Given the description of an element on the screen output the (x, y) to click on. 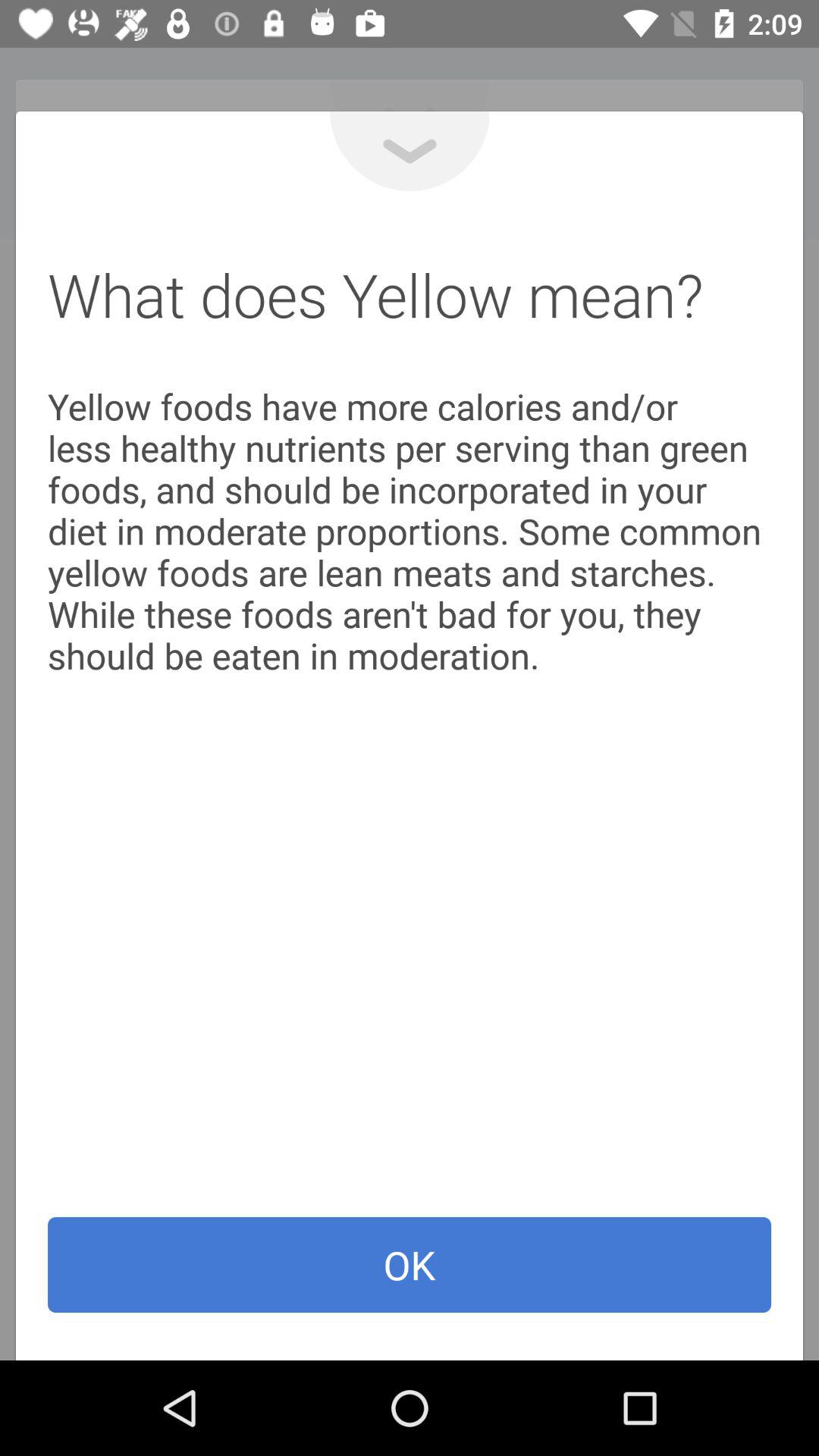
tab down (409, 151)
